Given the description of an element on the screen output the (x, y) to click on. 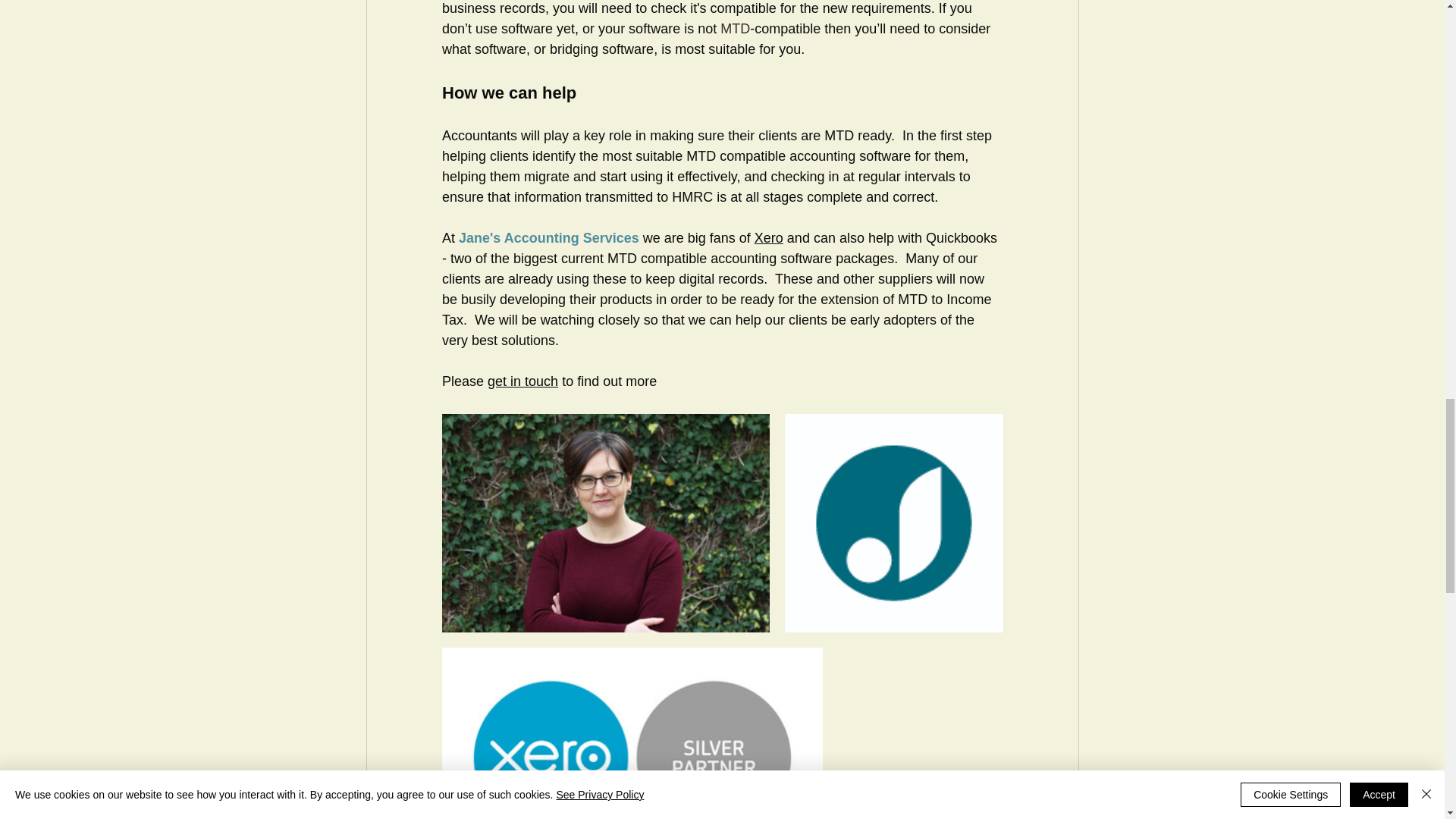
Xero (768, 237)
get in touch (522, 381)
